Given the description of an element on the screen output the (x, y) to click on. 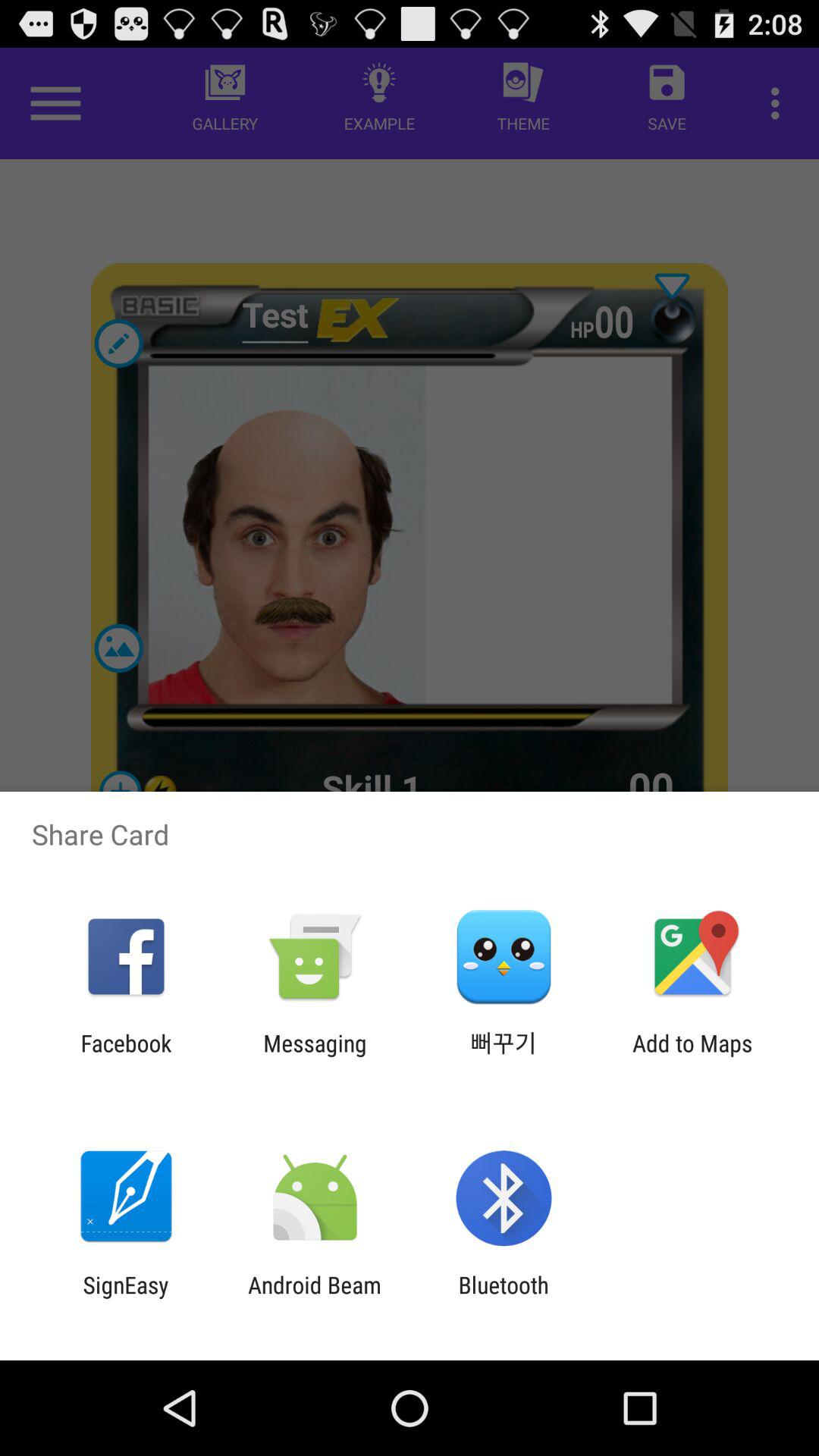
jump to the android beam icon (314, 1298)
